Given the description of an element on the screen output the (x, y) to click on. 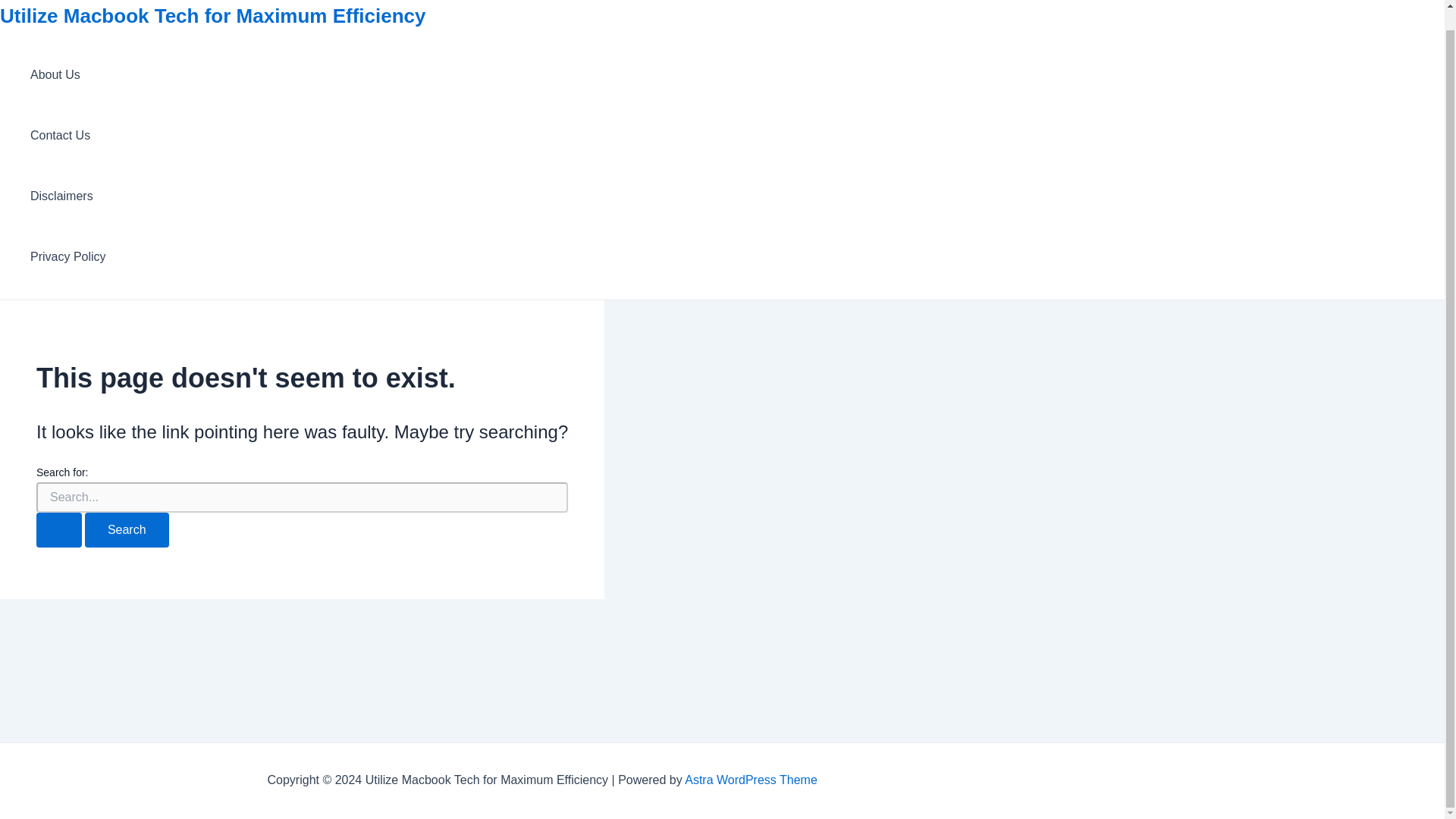
Astra WordPress Theme (750, 779)
Contact Us (68, 135)
About Us (68, 75)
Search (126, 529)
Search (126, 529)
Privacy Policy (68, 256)
Disclaimers (68, 196)
Utilize Macbook Tech for Maximum Efficiency (213, 15)
Search (126, 529)
